Given the description of an element on the screen output the (x, y) to click on. 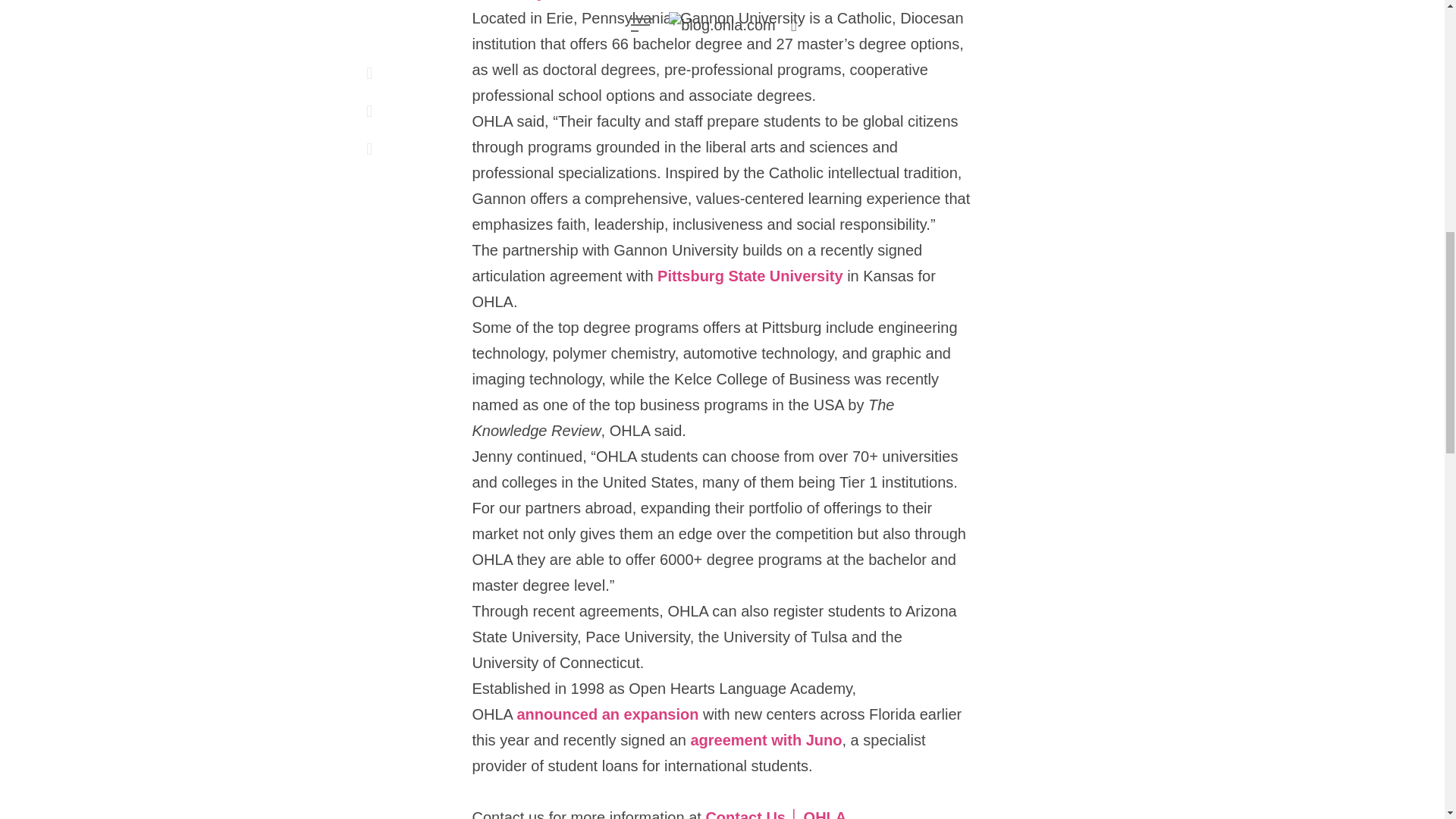
Pittsburg State University (750, 276)
agreement with Juno (765, 741)
announced an expansion (607, 714)
